Given the description of an element on the screen output the (x, y) to click on. 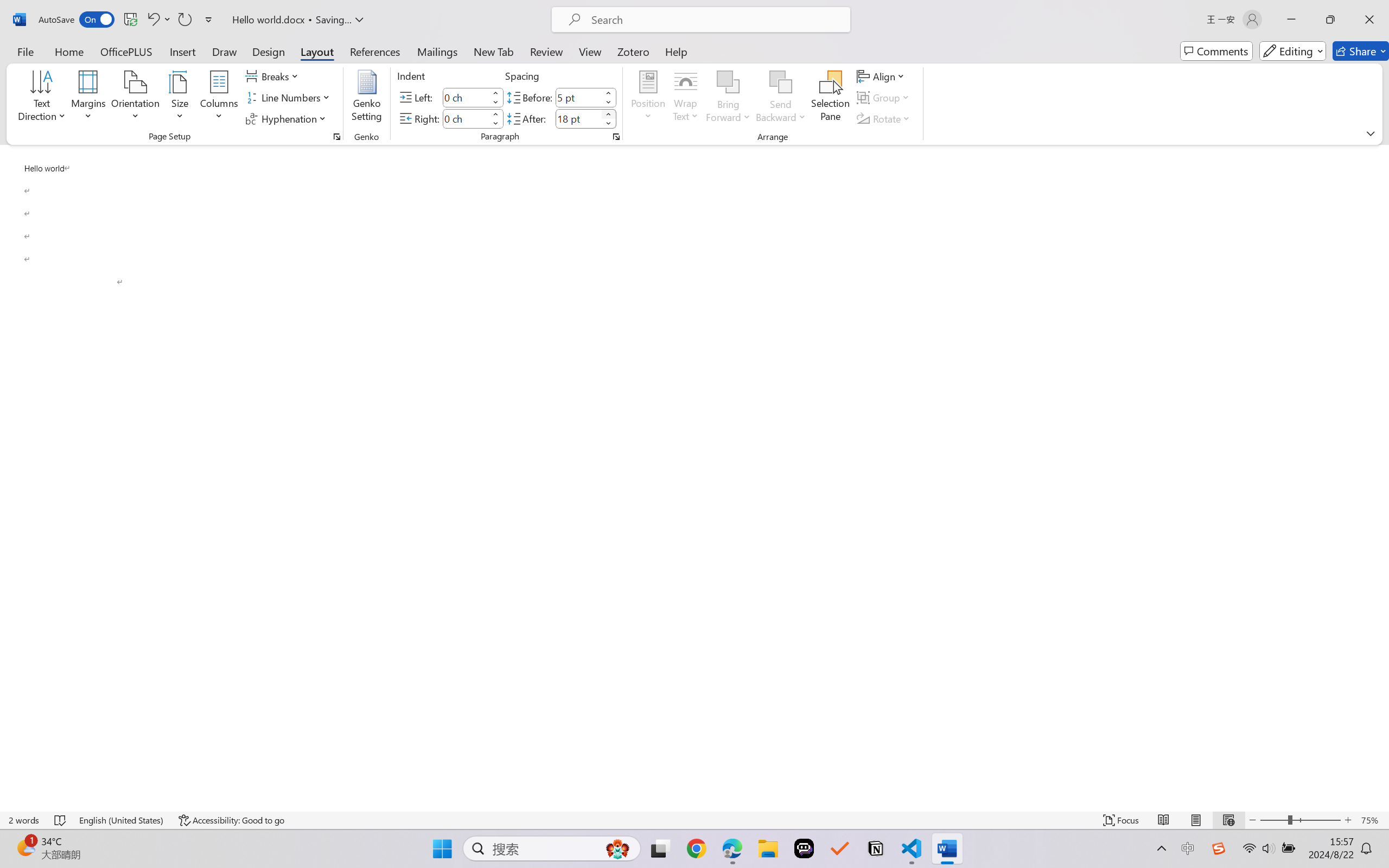
Wrap Text (685, 97)
Minimize (1291, 19)
Spacing After (578, 118)
Group (884, 97)
Comments (1216, 50)
Help (675, 51)
Zoom In (1348, 819)
Ribbon Display Options (1370, 132)
Send Backward (781, 81)
Save (130, 19)
Size (180, 97)
Read Mode (1163, 819)
Position (647, 97)
Zotero (632, 51)
